Given the description of an element on the screen output the (x, y) to click on. 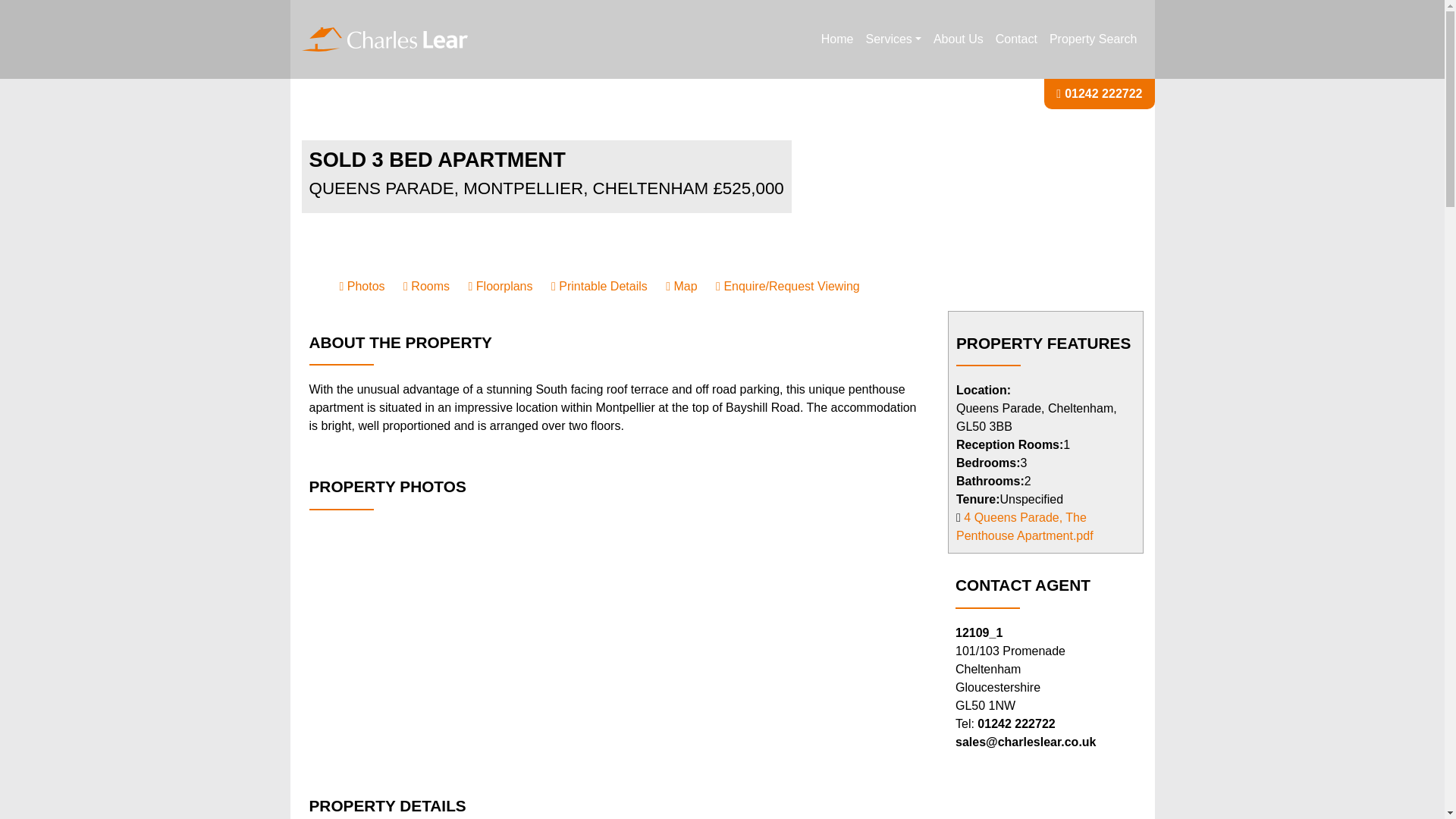
Rooms (426, 286)
Photos (362, 286)
Services (893, 39)
Enquire (788, 286)
Property Search (1092, 39)
Map (681, 286)
Printable Details (599, 286)
4 Queens Parade, The Penthouse Apartment.pdf (1024, 526)
Floorplans (500, 286)
Map (681, 286)
